Given the description of an element on the screen output the (x, y) to click on. 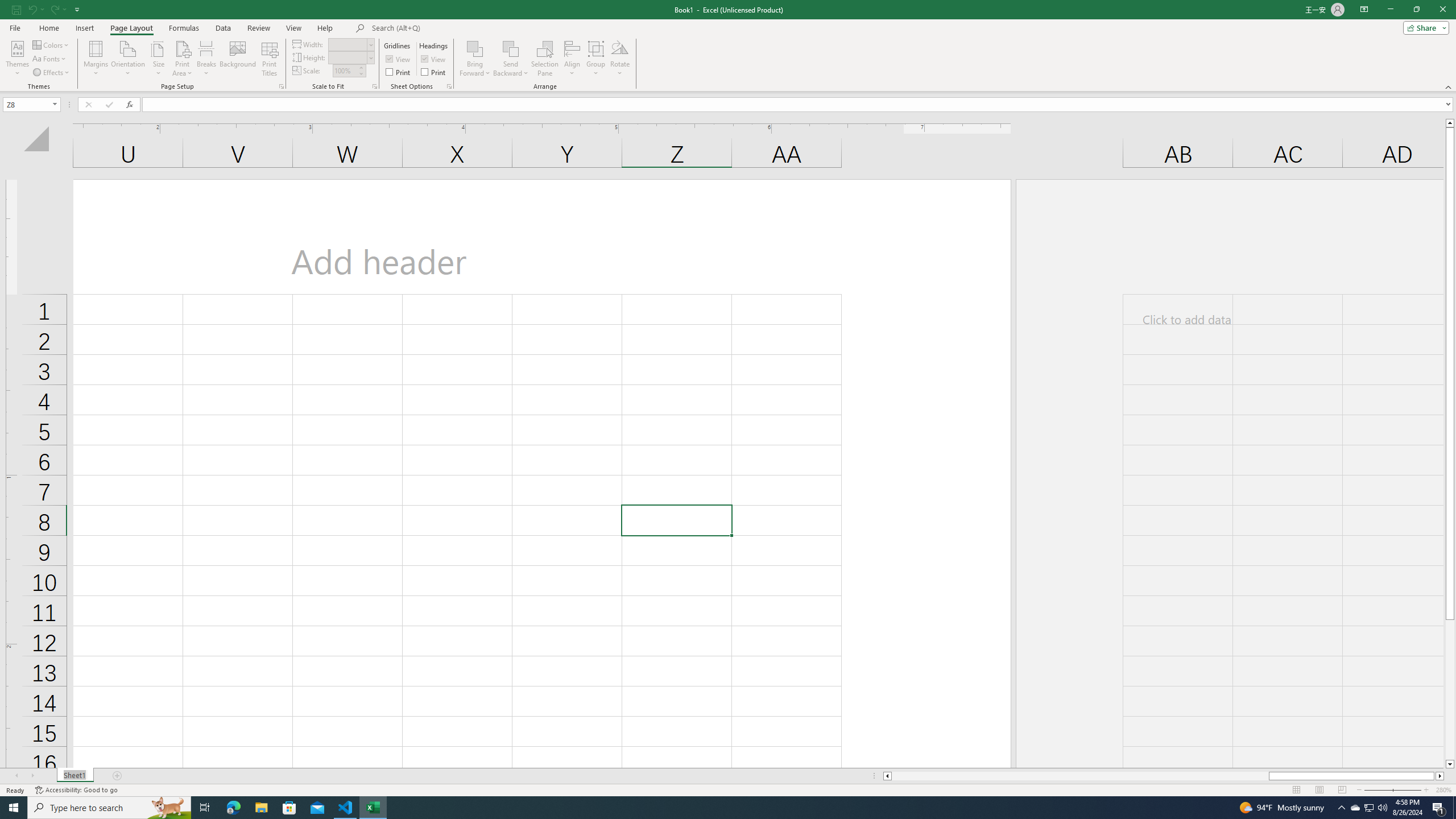
Selection Pane... (544, 58)
Background... (237, 58)
Print (434, 71)
Less (360, 73)
